Given the description of an element on the screen output the (x, y) to click on. 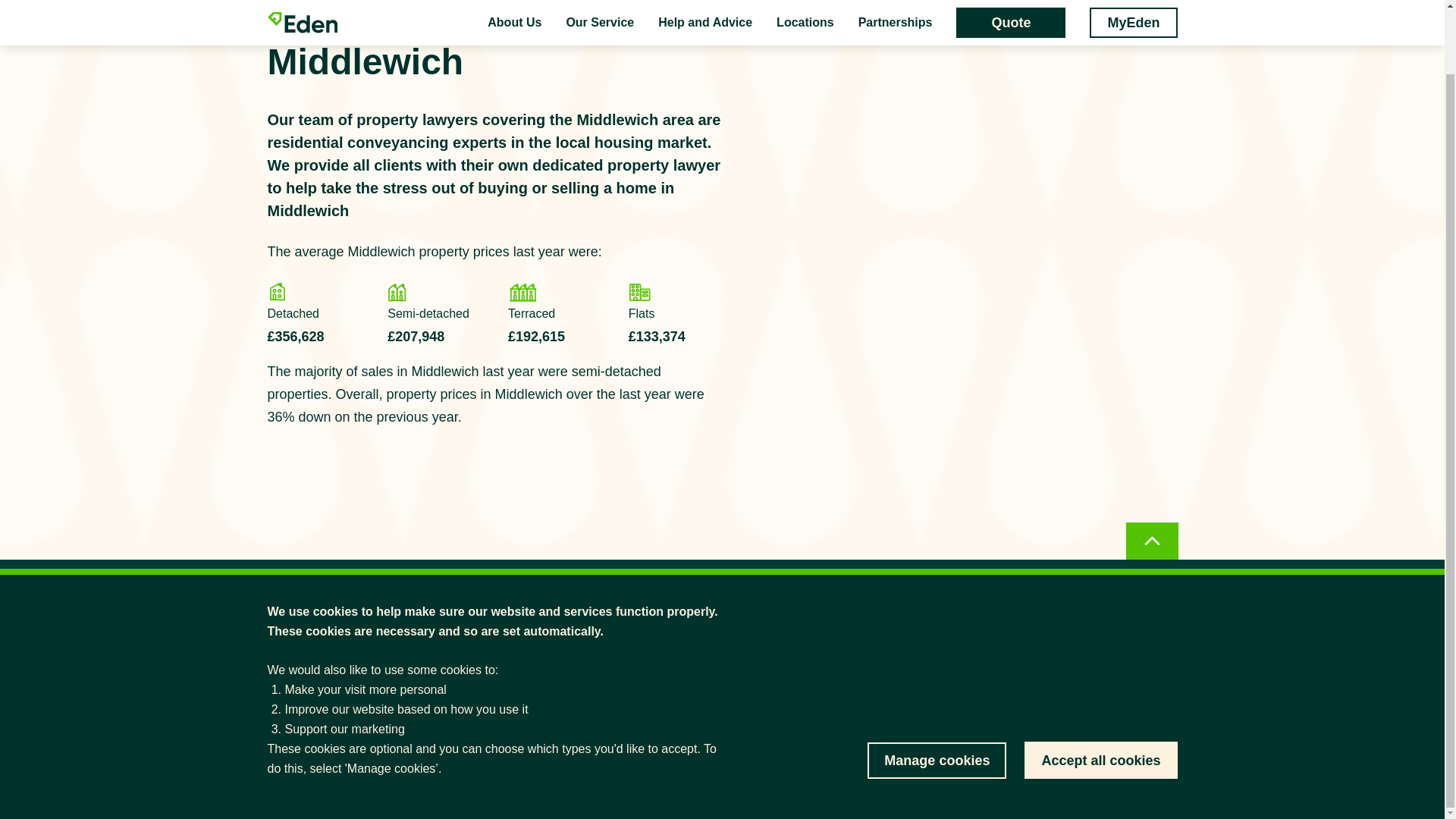
Locations (295, 9)
Return to the top of the current page (1151, 483)
Cookies (1160, 780)
Unit 7.19, Paintworks, Bath Road, Bristol, BS4 3EA (838, 699)
North West (369, 9)
Manage cookies (936, 689)
Return to home (304, 598)
Privacy Policy (1090, 780)
Return to the top of the current page (1151, 483)
0300 180 0345 (838, 664)
Accept all cookies (1100, 689)
Terms of engagement (994, 780)
